Given the description of an element on the screen output the (x, y) to click on. 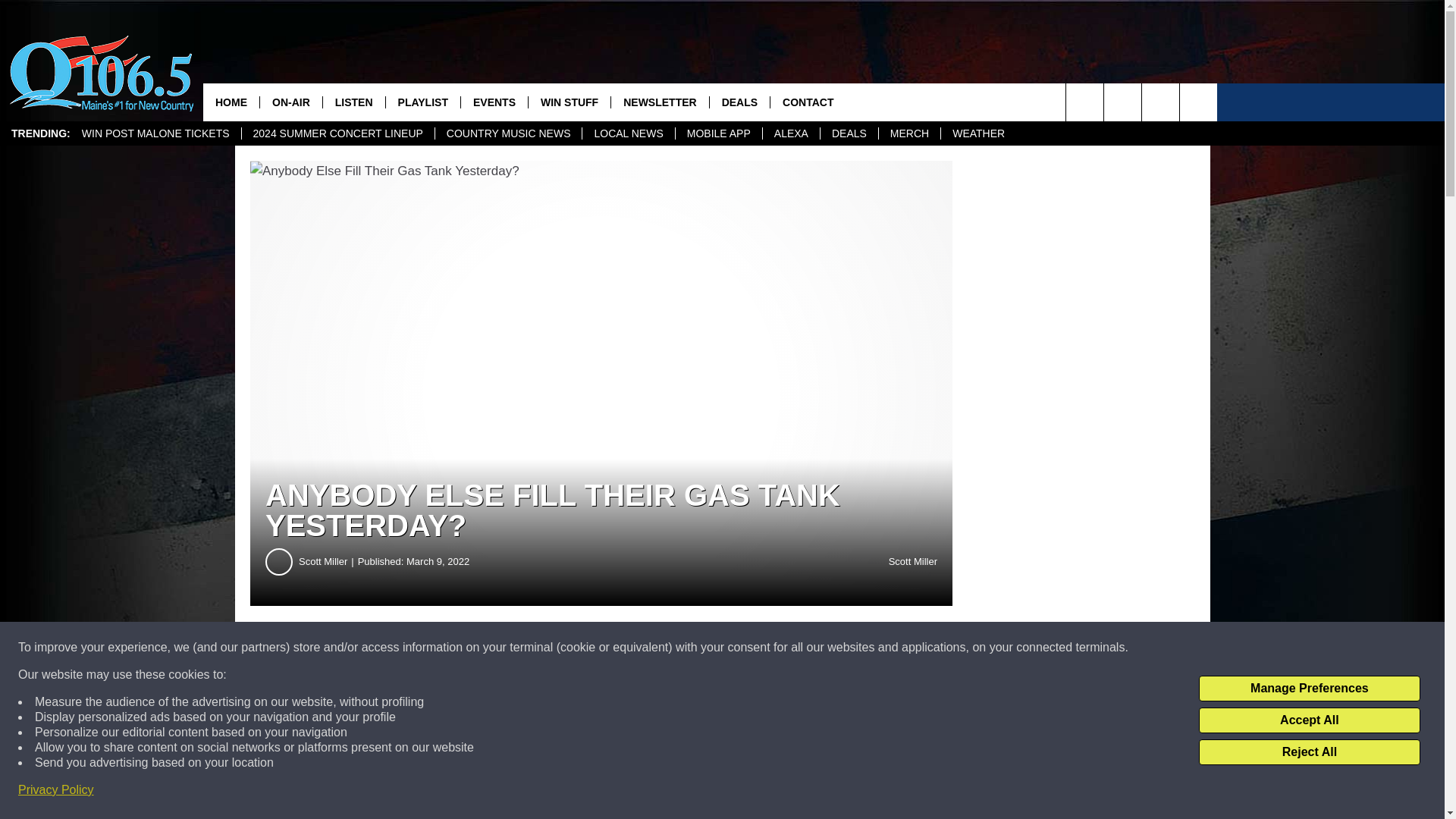
DEALS (848, 133)
WEATHER (978, 133)
MERCH (908, 133)
Share on Facebook (460, 647)
COUNTRY MUSIC NEWS (507, 133)
LISTEN (353, 102)
Privacy Policy (55, 789)
WIN POST MALONE TICKETS (155, 133)
2024 SUMMER CONCERT LINEUP (337, 133)
Share on Twitter (741, 647)
MOBILE APP (718, 133)
Reject All (1309, 751)
LOCAL NEWS (627, 133)
HOME (231, 102)
Accept All (1309, 720)
